Given the description of an element on the screen output the (x, y) to click on. 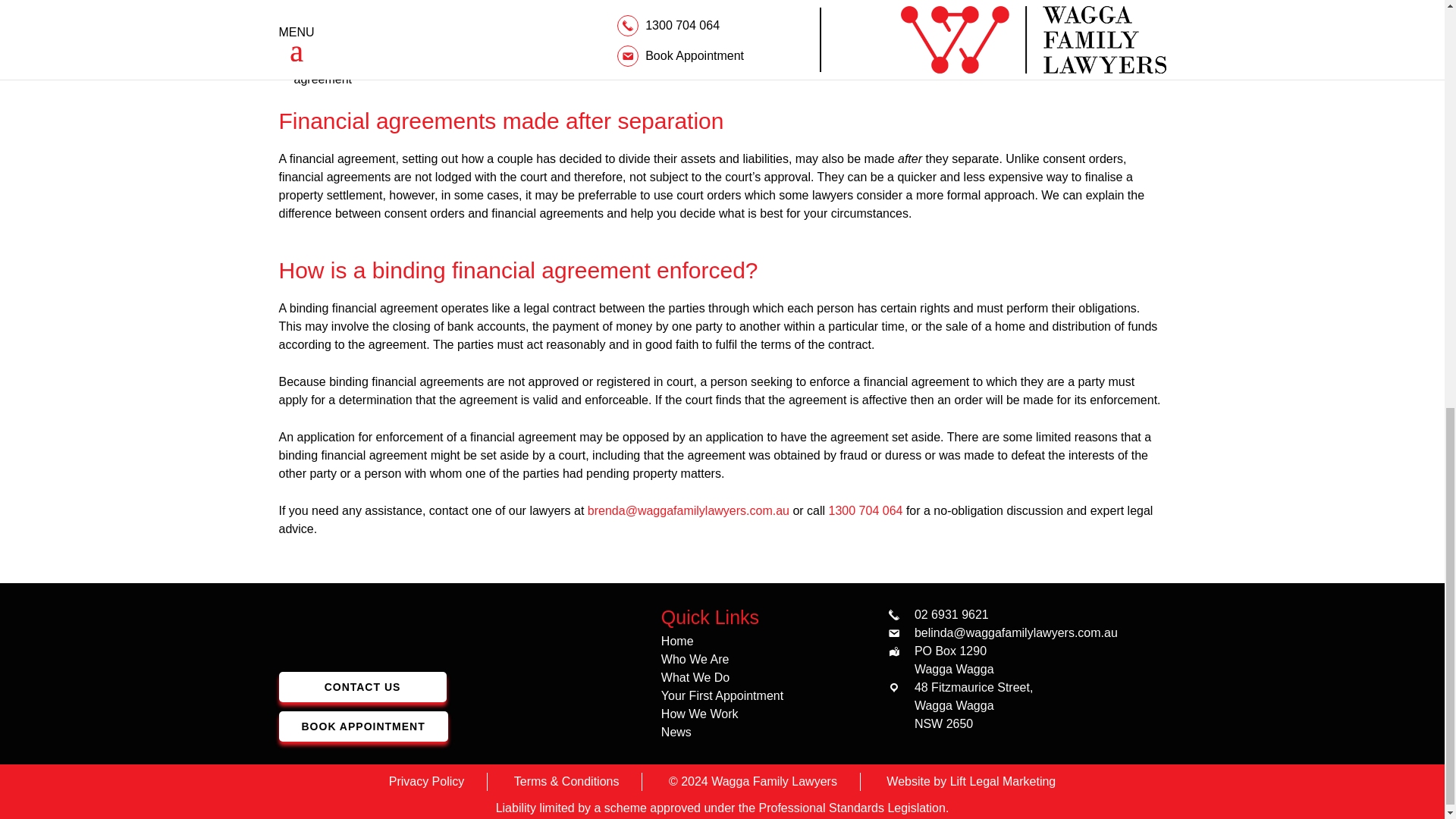
CONTACT US (362, 686)
1300 704 064 (865, 511)
Who We Are (695, 658)
Lift Legal Marketing (1003, 780)
Your First Appointment (722, 695)
02 6931 9621 (951, 615)
Privacy Policy (426, 780)
How We Work (699, 713)
Home (677, 640)
What We Do (695, 676)
News (676, 731)
BOOK APPOINTMENT (363, 726)
